Given the description of an element on the screen output the (x, y) to click on. 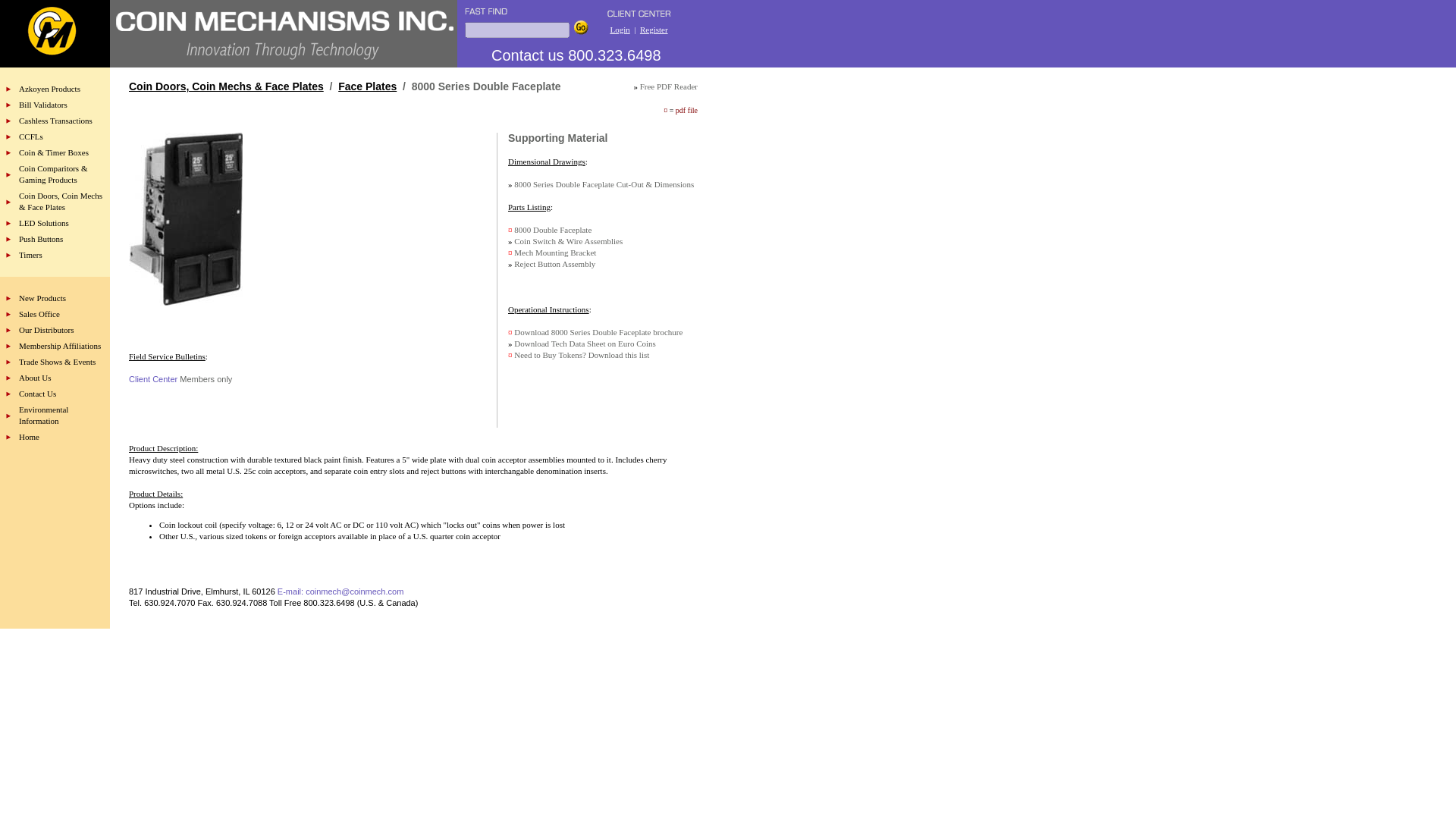
Reject Button Assembly (554, 263)
Timers (30, 254)
Bill Validators (42, 103)
Contact Us (37, 393)
Azkoyen Products (49, 88)
Membership Affiliations (59, 345)
Environmental Information (43, 414)
8000 Double Faceplate (552, 229)
Sales Office (38, 313)
Download Tech Data Sheet on Euro Coins (584, 343)
Face Plates (366, 86)
LED Solutions (43, 222)
Mech Mounting Bracket (554, 252)
Push Buttons (40, 238)
Download 8000 Series Double Faceplate brochure (597, 331)
